Given the description of an element on the screen output the (x, y) to click on. 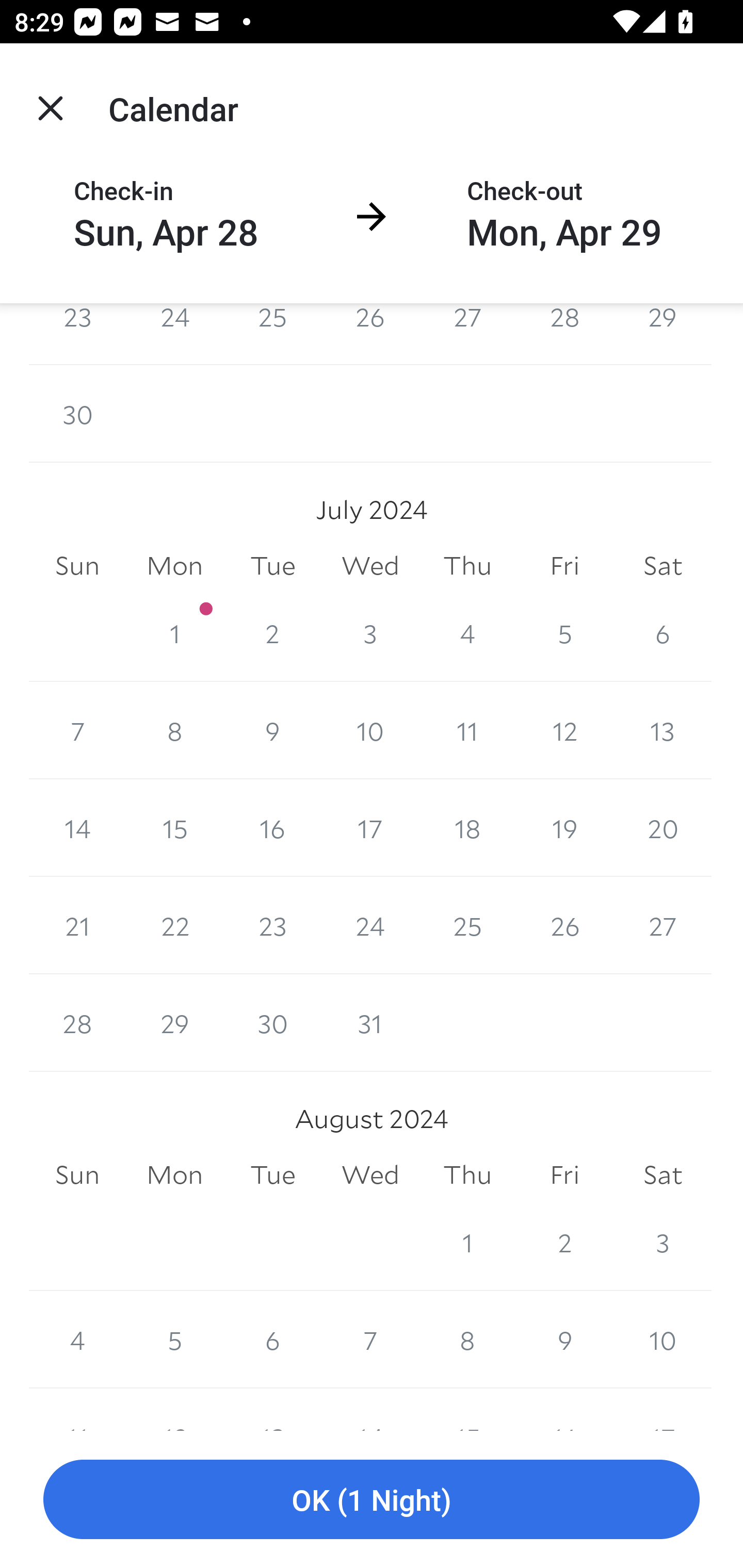
23 23 June 2024 (77, 333)
24 24 June 2024 (174, 333)
25 25 June 2024 (272, 333)
26 26 June 2024 (370, 333)
27 27 June 2024 (467, 333)
28 28 June 2024 (564, 333)
29 29 June 2024 (662, 333)
30 30 June 2024 (77, 413)
Sun (77, 565)
Mon (174, 565)
Tue (272, 565)
Wed (370, 565)
Thu (467, 565)
Fri (564, 565)
Sat (662, 565)
1 1 July 2024 (174, 633)
2 2 July 2024 (272, 633)
3 3 July 2024 (370, 633)
4 4 July 2024 (467, 633)
5 5 July 2024 (564, 633)
6 6 July 2024 (662, 633)
7 7 July 2024 (77, 730)
8 8 July 2024 (174, 730)
9 9 July 2024 (272, 730)
10 10 July 2024 (370, 730)
11 11 July 2024 (467, 730)
12 12 July 2024 (564, 730)
13 13 July 2024 (662, 730)
14 14 July 2024 (77, 827)
15 15 July 2024 (174, 827)
16 16 July 2024 (272, 827)
17 17 July 2024 (370, 827)
18 18 July 2024 (467, 827)
19 19 July 2024 (564, 827)
20 20 July 2024 (662, 827)
21 21 July 2024 (77, 924)
22 22 July 2024 (174, 924)
23 23 July 2024 (272, 924)
24 24 July 2024 (370, 924)
25 25 July 2024 (467, 924)
26 26 July 2024 (564, 924)
27 27 July 2024 (662, 924)
28 28 July 2024 (77, 1022)
29 29 July 2024 (174, 1022)
30 30 July 2024 (272, 1022)
31 31 July 2024 (370, 1022)
Sun (77, 1175)
Mon (174, 1175)
Tue (272, 1175)
Wed (370, 1175)
Thu (467, 1175)
Fri (564, 1175)
Sat (662, 1175)
1 1 August 2024 (467, 1241)
2 2 August 2024 (564, 1241)
3 3 August 2024 (662, 1241)
4 4 August 2024 (77, 1339)
5 5 August 2024 (174, 1339)
6 6 August 2024 (272, 1339)
7 7 August 2024 (370, 1339)
8 8 August 2024 (467, 1339)
9 9 August 2024 (564, 1339)
10 10 August 2024 (662, 1339)
OK (1 Night) (371, 1499)
